Given the description of an element on the screen output the (x, y) to click on. 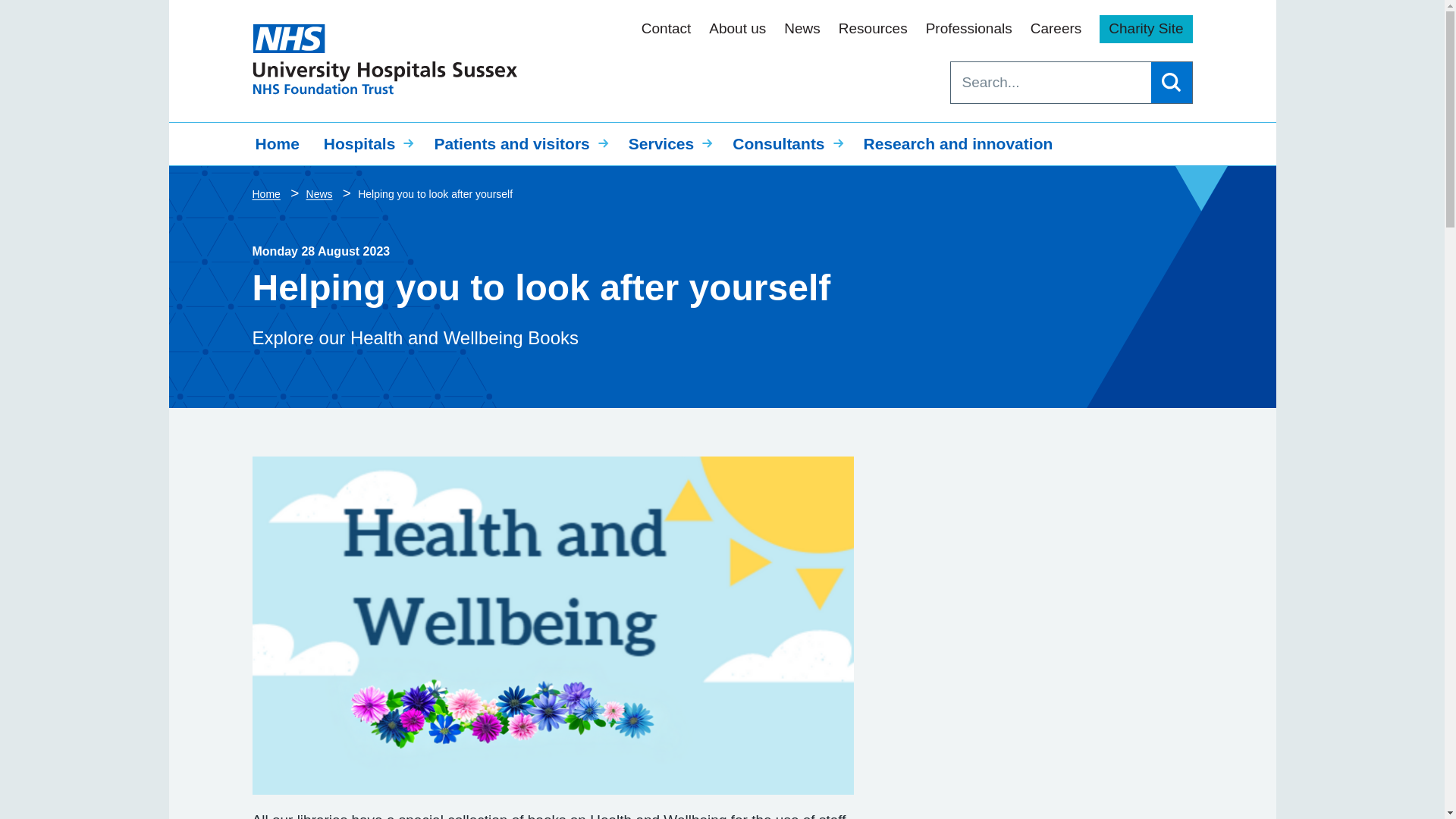
Hospitals (366, 144)
News (802, 29)
Services (667, 144)
Home (277, 144)
Careers (1055, 29)
Resources (872, 29)
University Hospitals Sussex NHS Foundation Trust Homepage (383, 59)
Charity Site (1145, 29)
Contact (666, 29)
Go to Home. (266, 193)
Go to News. (320, 193)
About us (737, 29)
Patients and visitors (518, 144)
Professionals (968, 29)
